Given the description of an element on the screen output the (x, y) to click on. 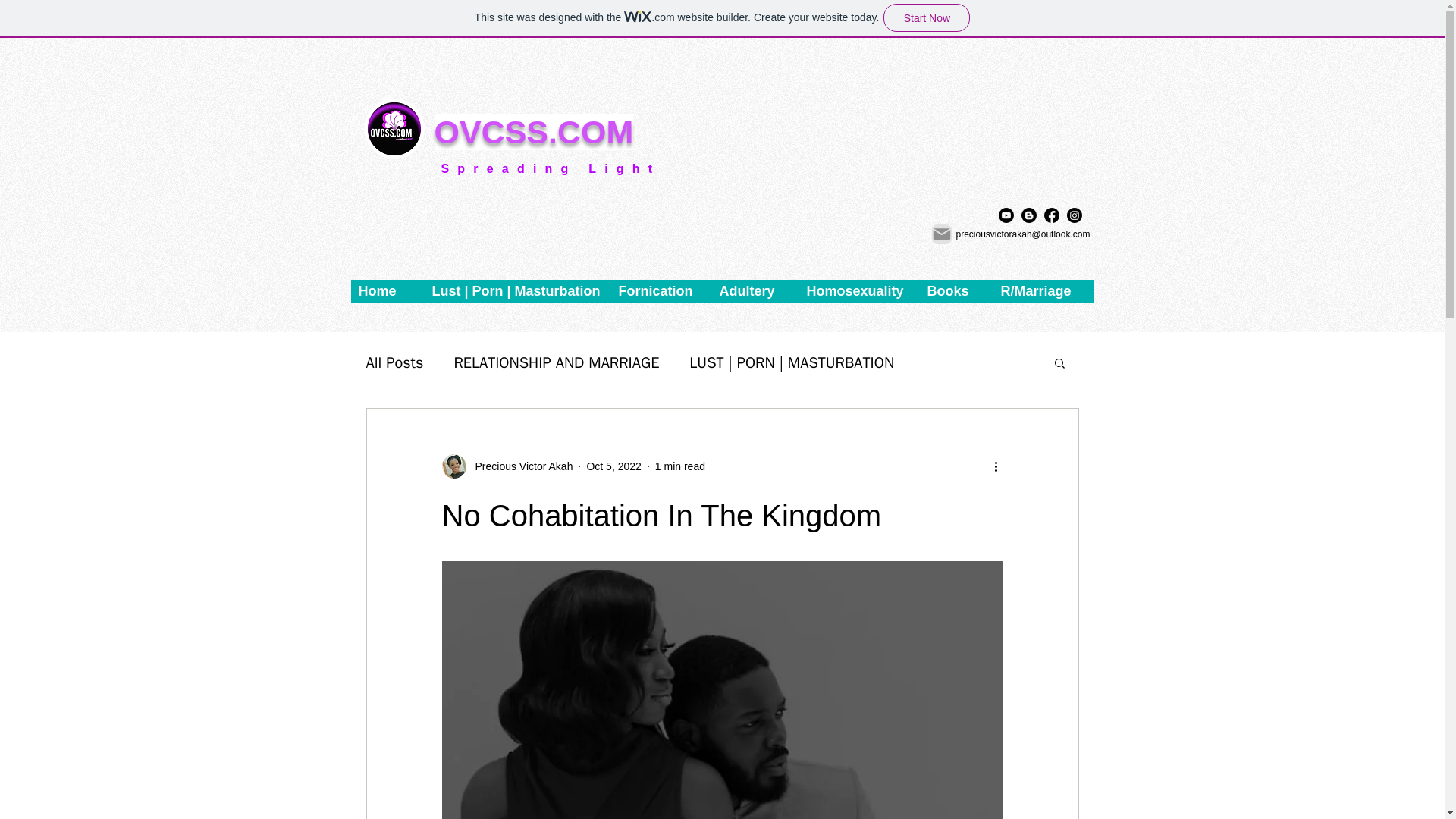
Books (955, 291)
1 min read (679, 465)
Fornication (661, 291)
All Posts (394, 362)
Homosexuality (859, 291)
RELATIONSHIP AND MARRIAGE (555, 362)
Precious Victor Akah (518, 465)
Adultery (754, 291)
Oct 5, 2022 (613, 465)
Home (386, 291)
